Given the description of an element on the screen output the (x, y) to click on. 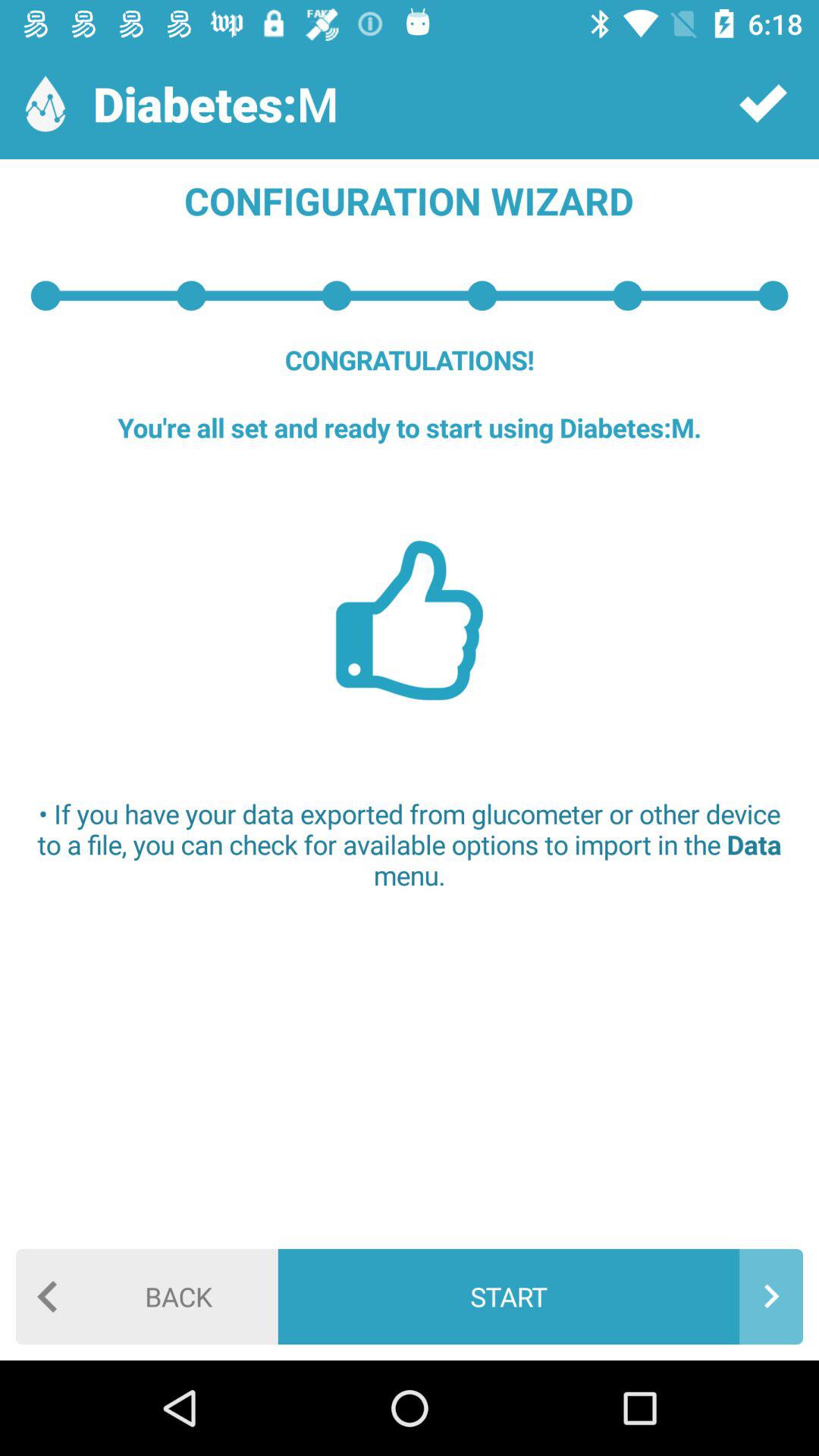
turn off item to the left of start (146, 1296)
